Given the description of an element on the screen output the (x, y) to click on. 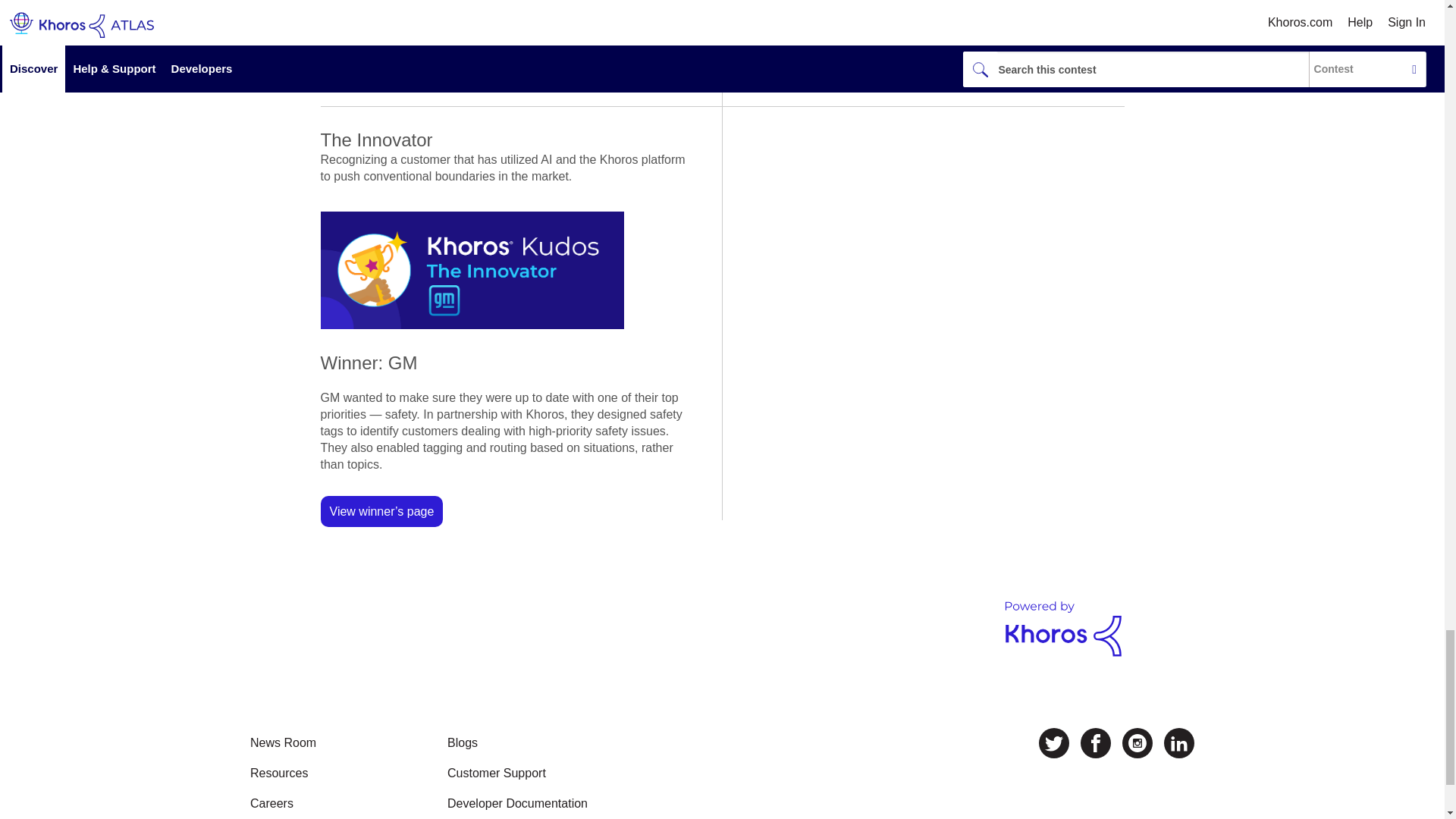
twitter (1053, 742)
linkedin (1179, 742)
facebook (1095, 742)
